Given the description of an element on the screen output the (x, y) to click on. 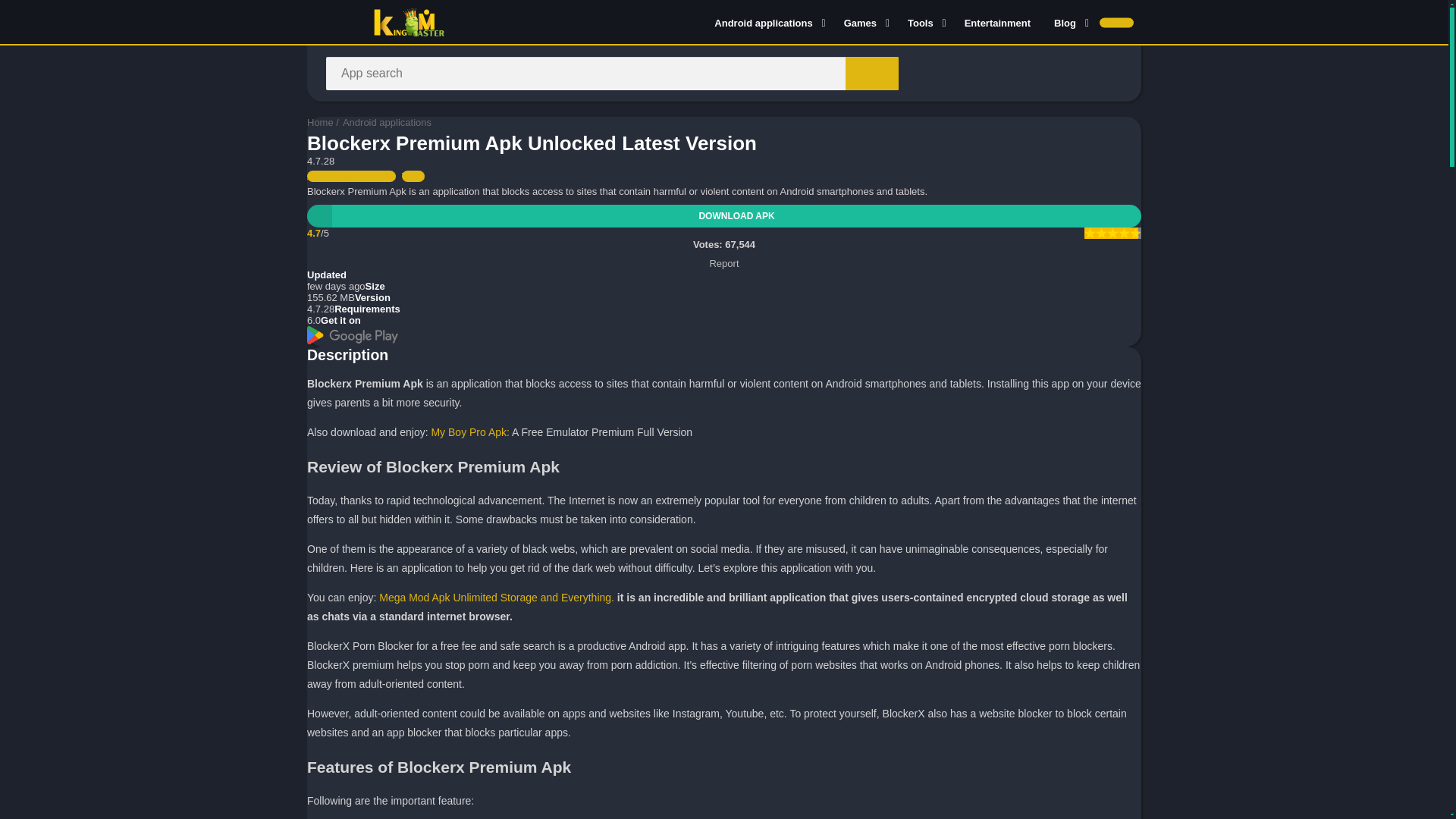
Entertainment (997, 22)
App search (871, 73)
Tools (924, 22)
Download APK (724, 215)
Android applications (767, 22)
Blog (1068, 22)
Games (863, 22)
king Master APK (320, 122)
